Given the description of an element on the screen output the (x, y) to click on. 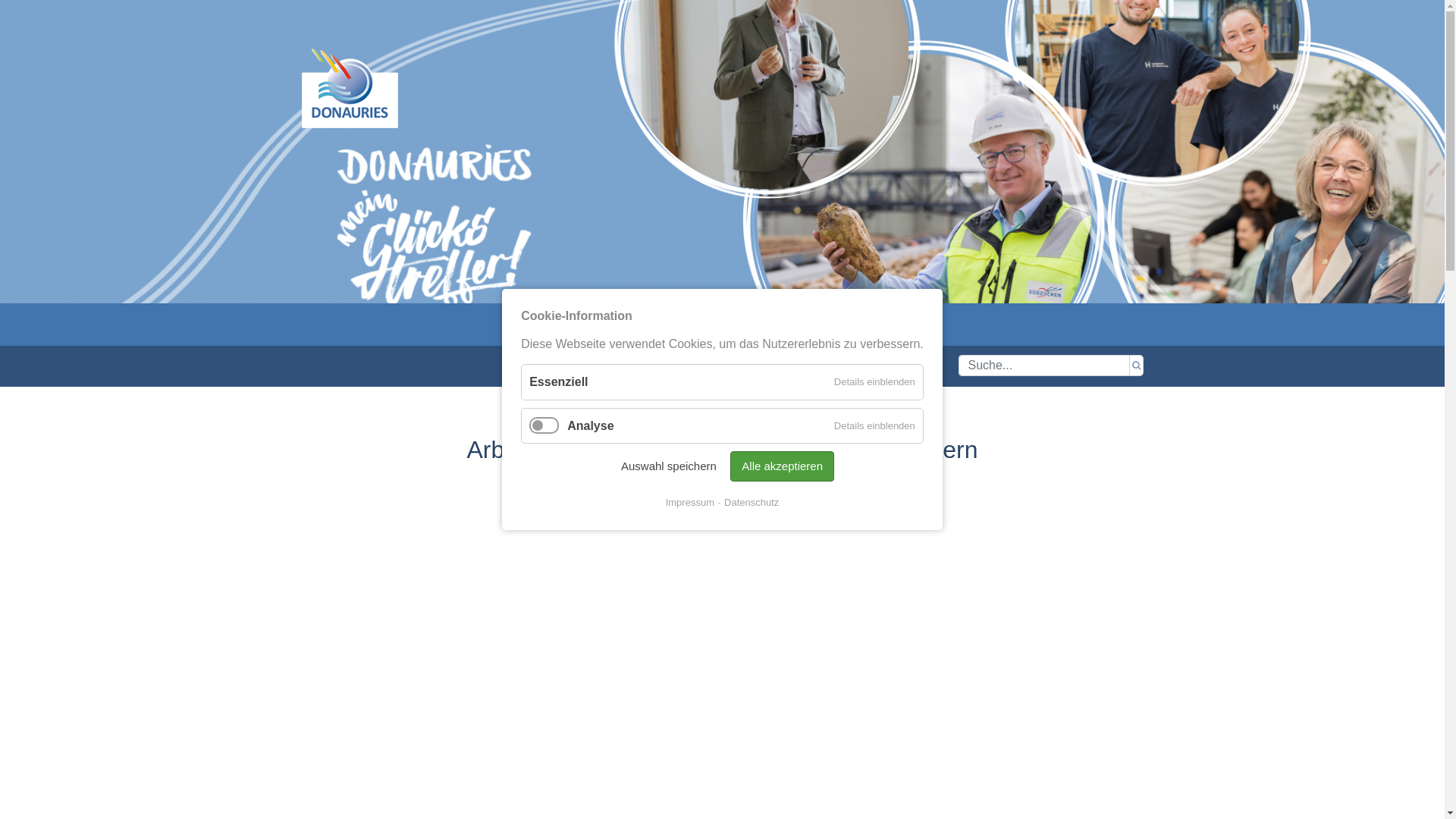
Alle akzeptieren Element type: text (782, 466)
Details einblenden Element type: text (874, 425)
Auswahl speichern Element type: text (668, 466)
Wirtschaft DONAURIES Element type: hover (349, 88)
Details einblenden Element type: text (874, 381)
Marke Element type: text (765, 323)
Impressum Element type: text (689, 502)
Projekte Element type: text (627, 323)
Datenschutz Element type: text (747, 502)
Aktuelles Element type: text (553, 323)
Standort Element type: text (699, 323)
